Given the description of an element on the screen output the (x, y) to click on. 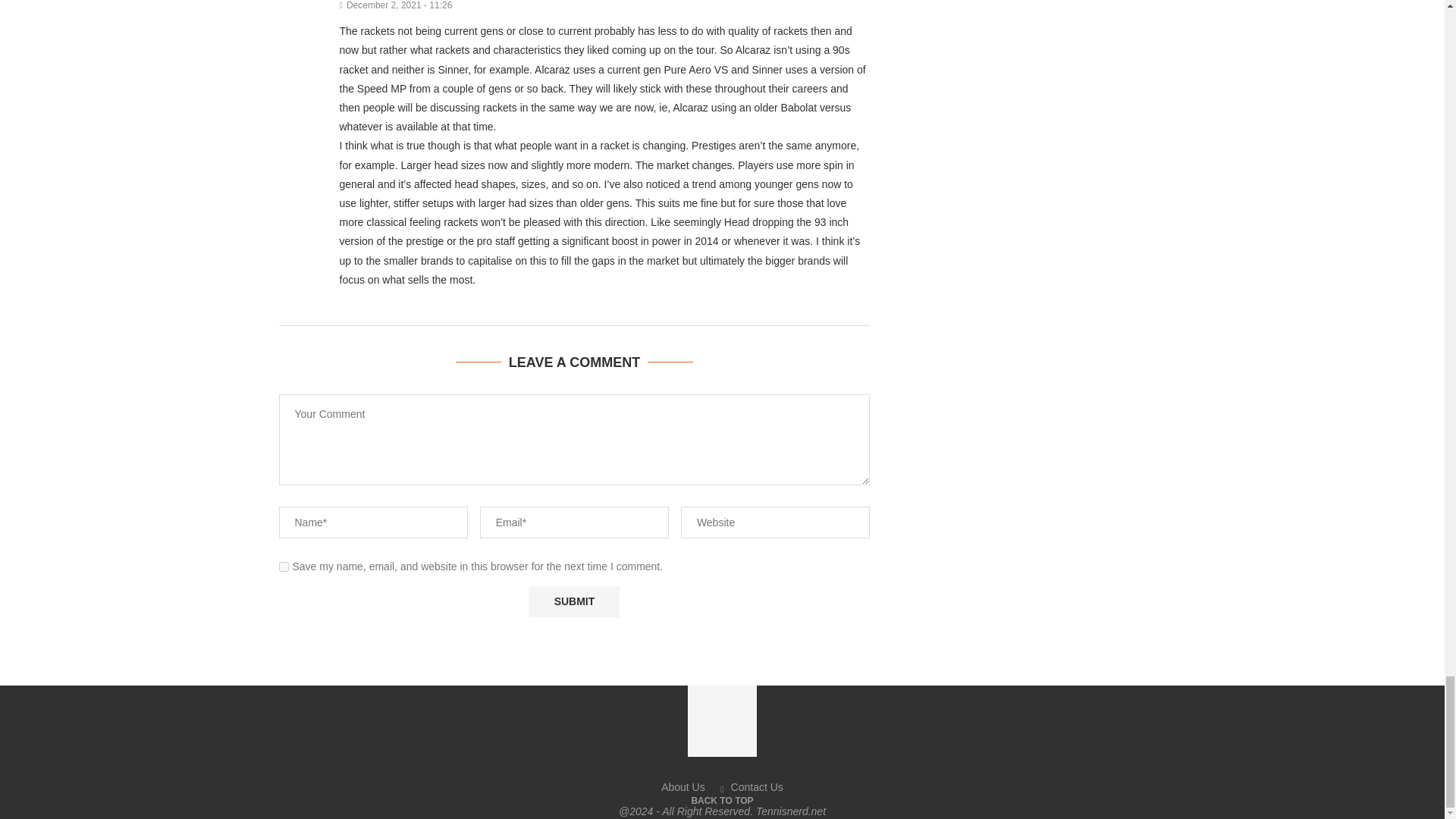
Submit (574, 601)
Thursday, December 2, 2021, 11:26 am (604, 5)
yes (283, 566)
